Given the description of an element on the screen output the (x, y) to click on. 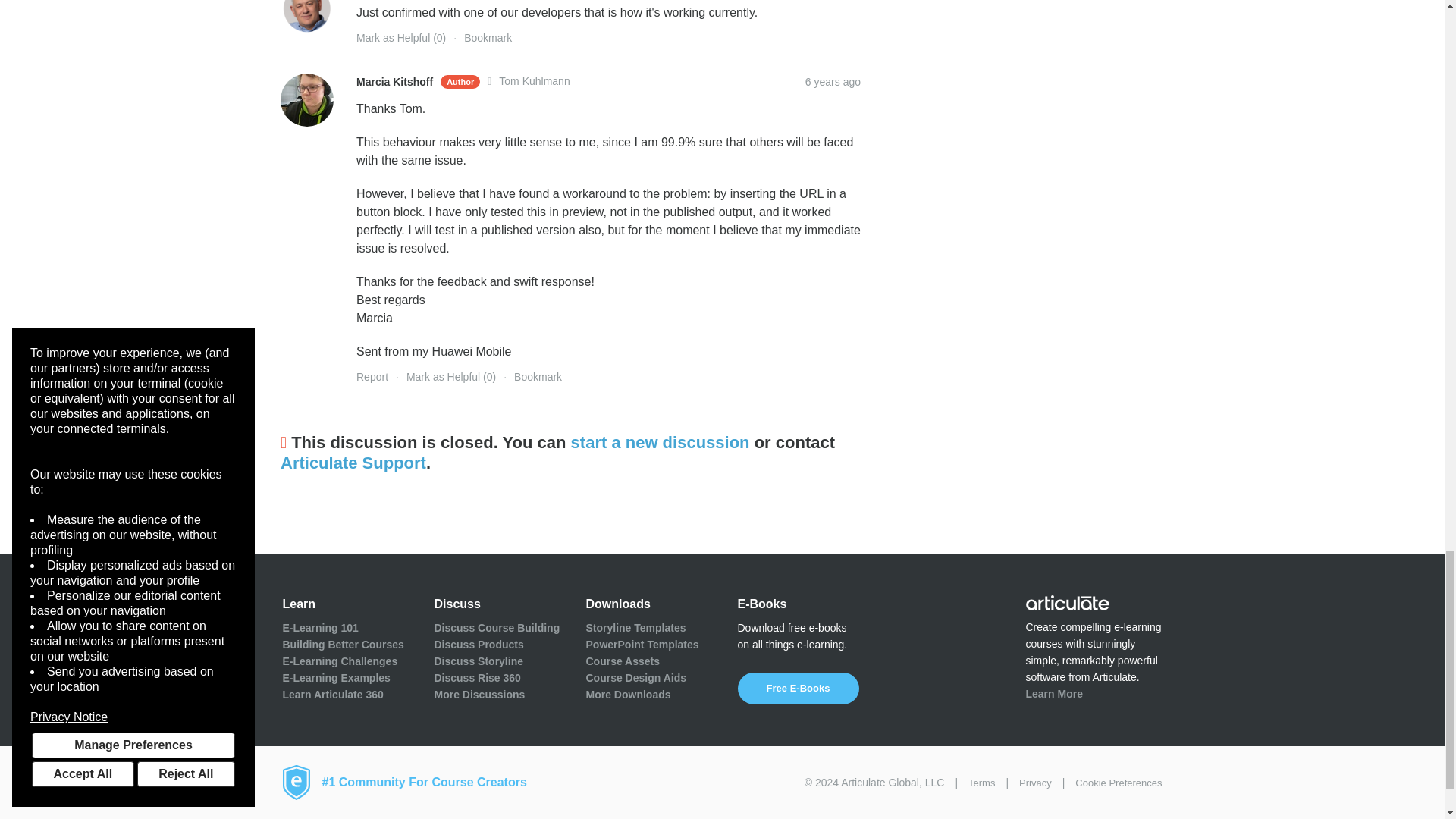
Copy URL to Clipboard (832, 81)
Tom Kuhlmann (307, 16)
Marcia Kitshoff (307, 99)
